Given the description of an element on the screen output the (x, y) to click on. 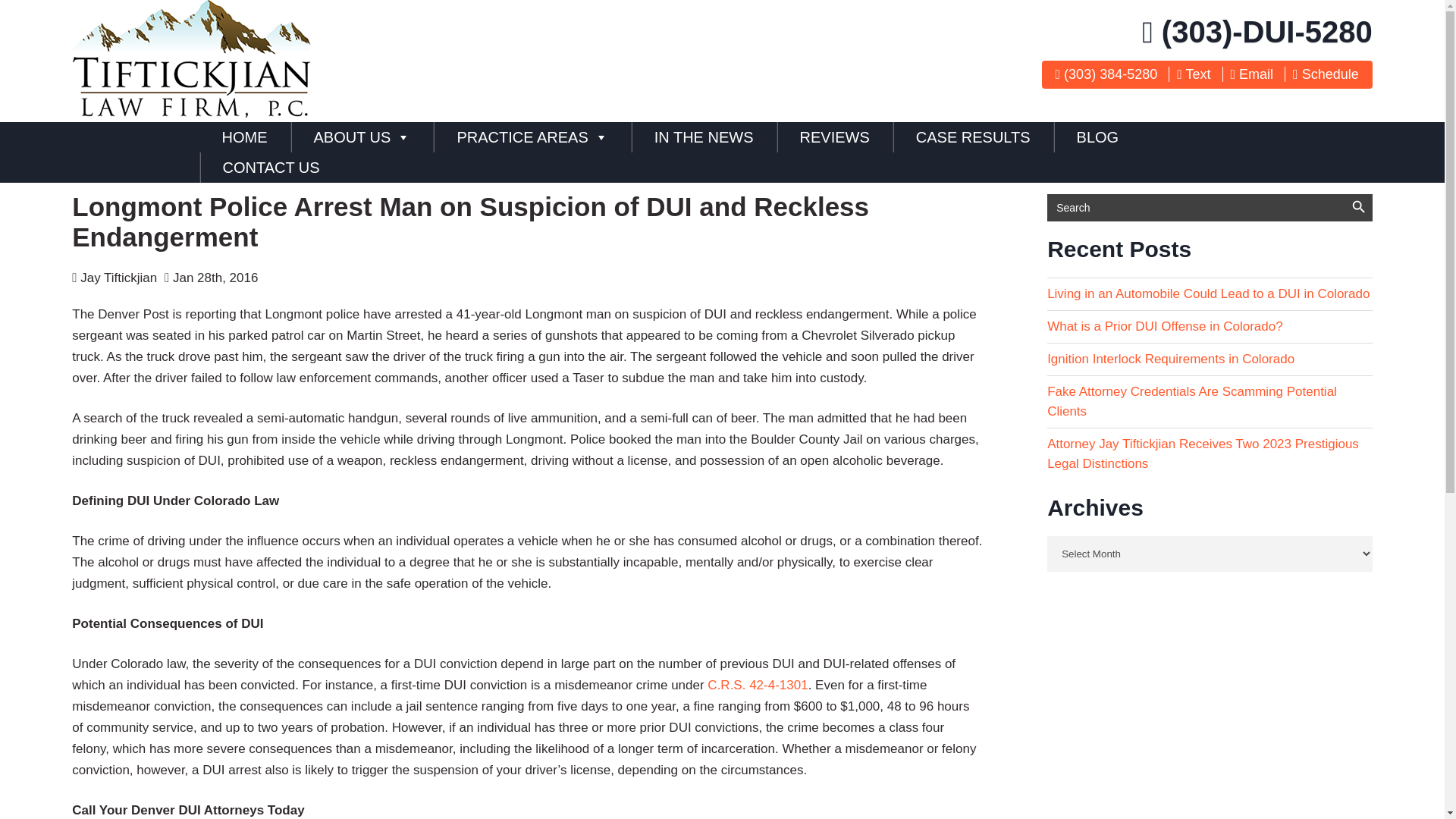
Text (1192, 73)
Schedule (1325, 73)
ABOUT US (362, 137)
PRACTICE AREAS (531, 137)
Practice Areas (531, 137)
Tiftickjian Law Firm, P.C. (192, 114)
Email (1251, 73)
About Us (362, 137)
Home (243, 137)
HOME (243, 137)
